Given the description of an element on the screen output the (x, y) to click on. 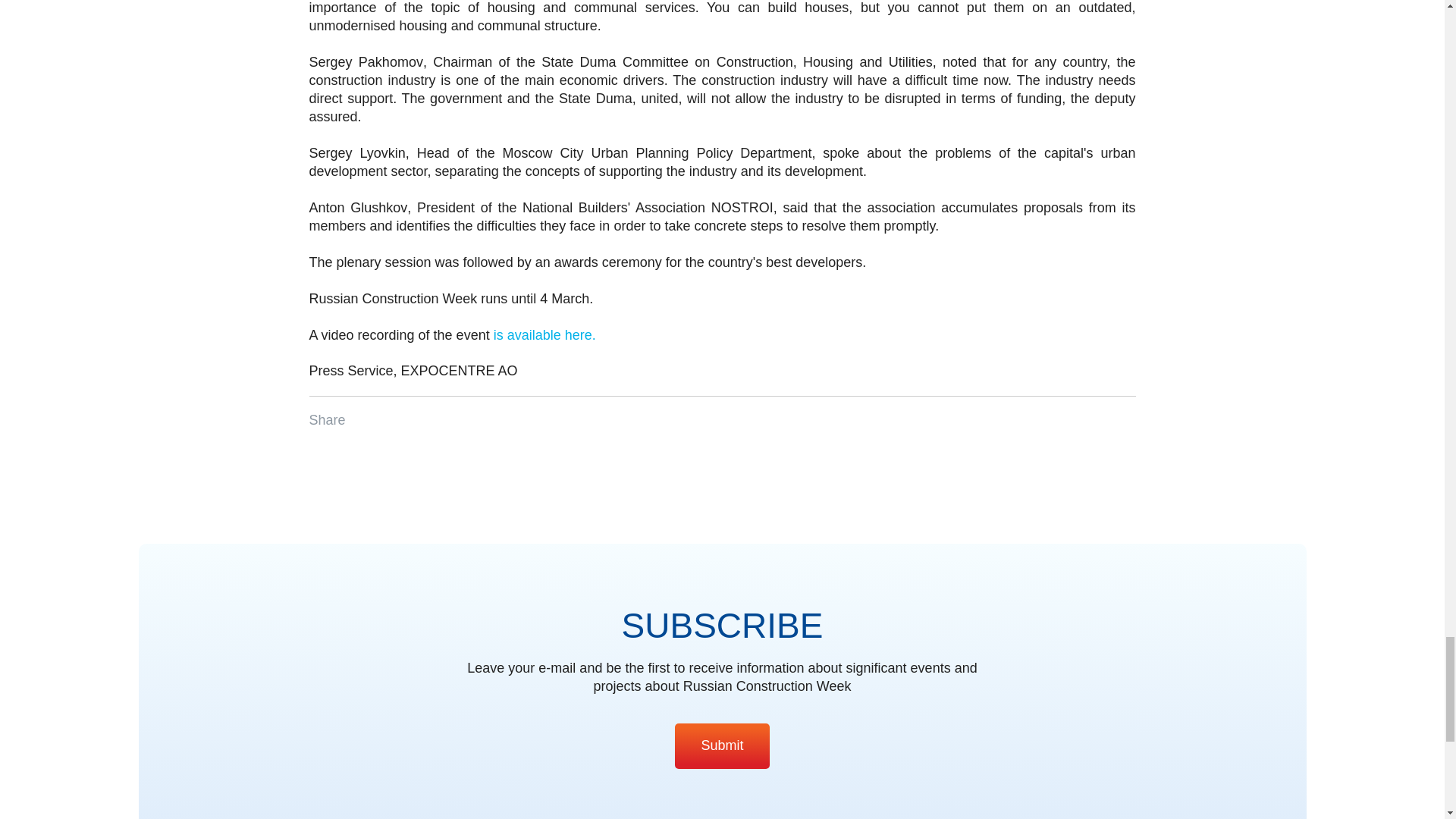
is available here. (544, 335)
